Given the description of an element on the screen output the (x, y) to click on. 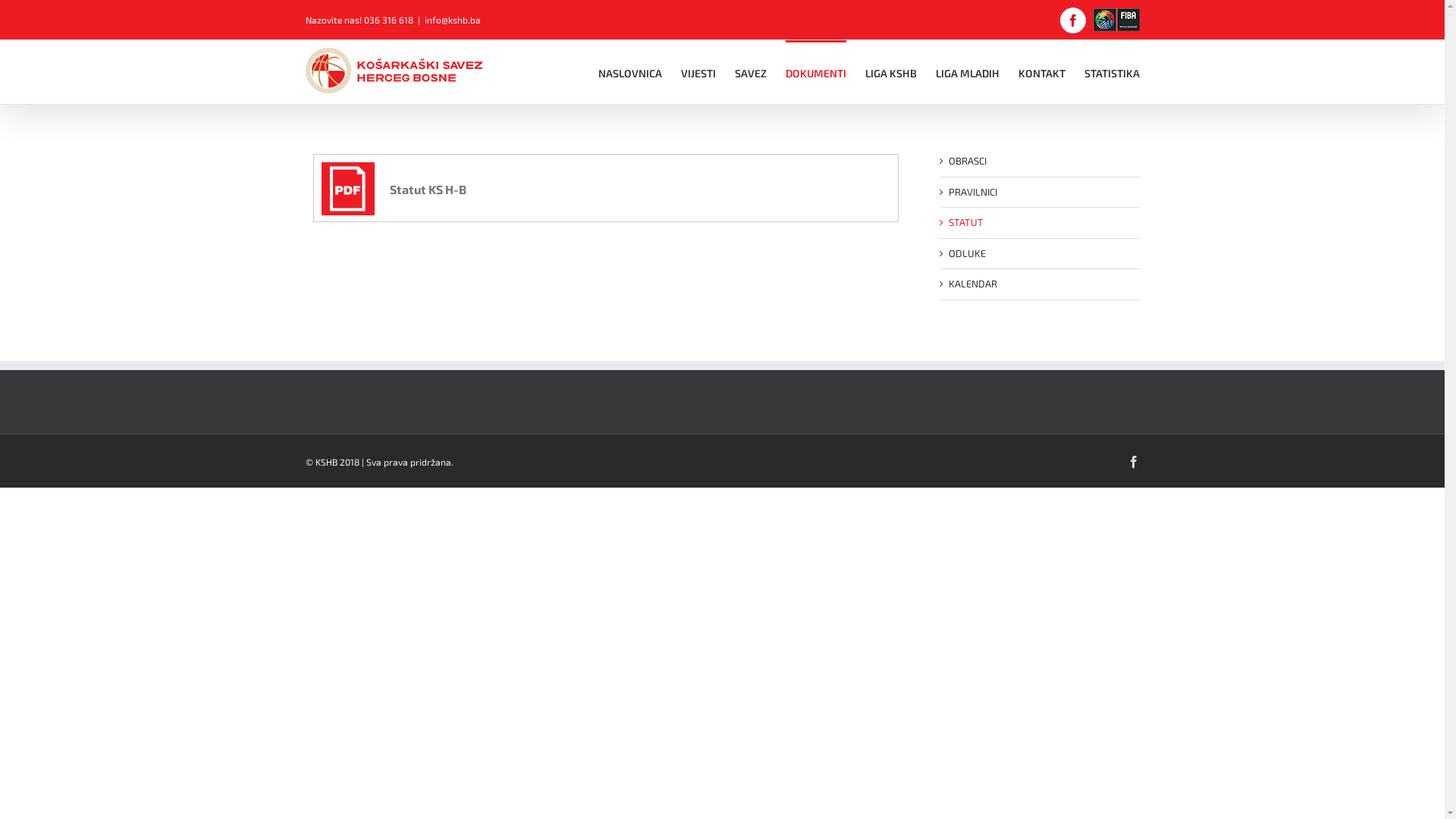
FIBA Element type: text (1116, 19)
LIGA KSHB Element type: text (890, 71)
SAVEZ Element type: text (749, 71)
Facebook Element type: text (1132, 461)
VIJESTI Element type: text (697, 71)
info@kshb.ba Element type: text (452, 19)
Statut KS H-B Element type: text (393, 188)
KONTAKT Element type: text (1040, 71)
LIGA MLADIH Element type: text (967, 71)
KALENDAR Element type: text (971, 283)
PRAVILNICI Element type: text (971, 191)
OBRASCI Element type: text (966, 160)
ODLUKE Element type: text (966, 253)
NASLOVNICA Element type: text (629, 71)
STATUT Element type: text (964, 222)
STATISTIKA Element type: text (1111, 71)
DOKUMENTI Element type: text (815, 71)
Facebook Element type: text (1072, 20)
